Given the description of an element on the screen output the (x, y) to click on. 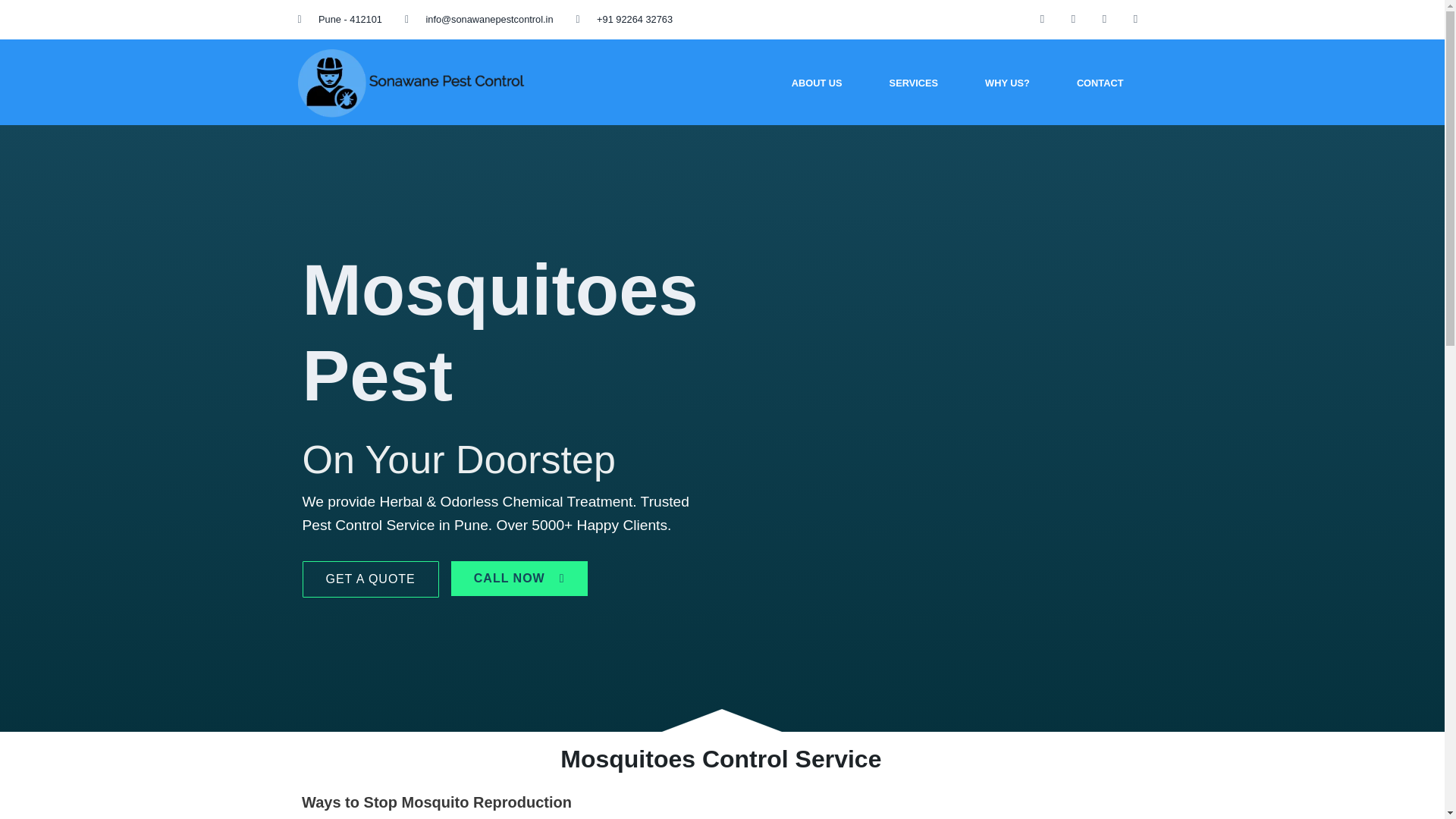
GET A QUOTE (369, 579)
CALL NOW (519, 578)
SERVICES (913, 83)
Pune - 412101 (339, 19)
ABOUT US (817, 83)
CONTACT (1099, 83)
WHY US? (1006, 83)
